Given the description of an element on the screen output the (x, y) to click on. 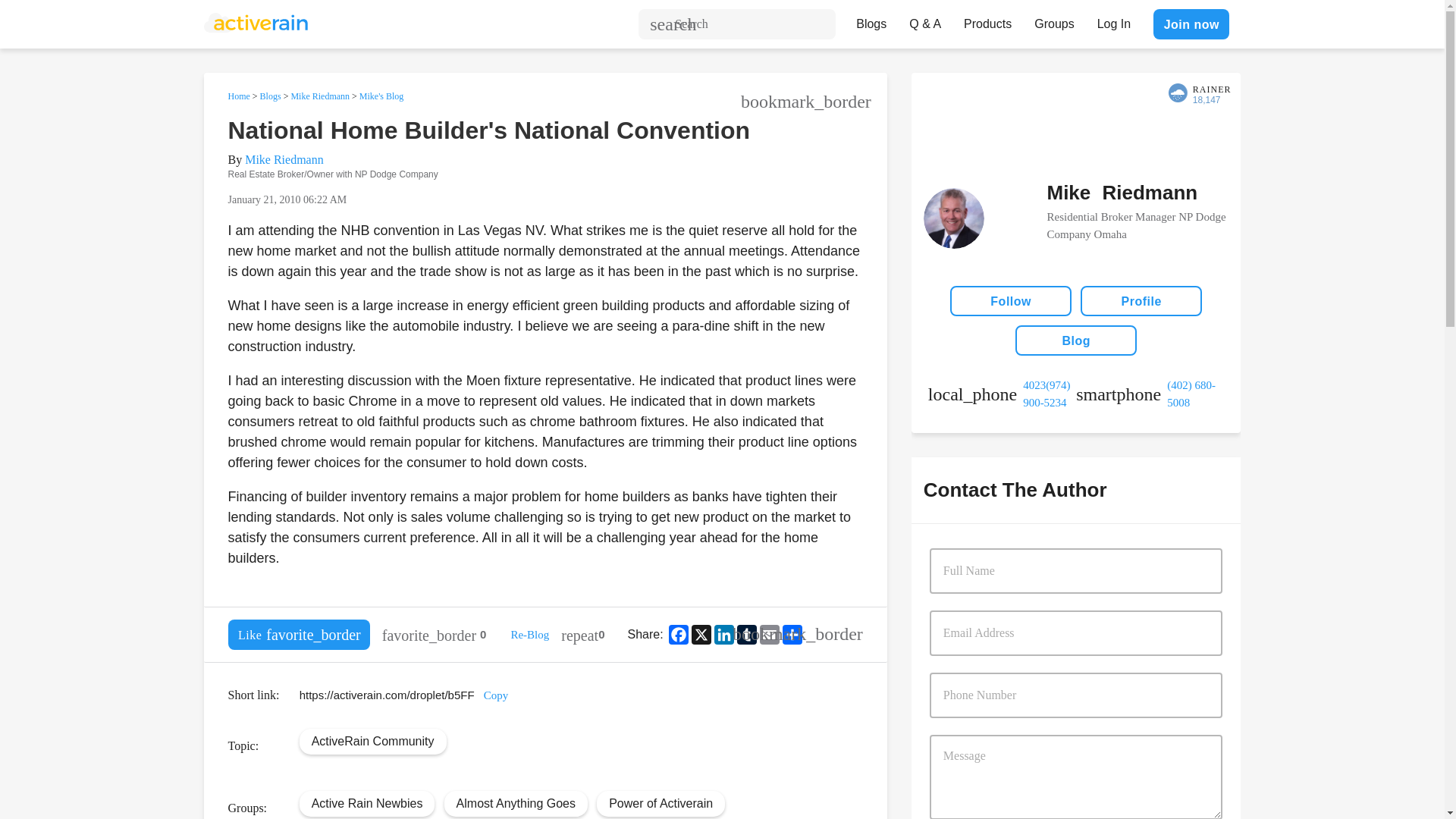
Mike Riedmann (319, 95)
work (1001, 393)
Blogs (870, 19)
Almost Anything Goes (516, 802)
Copy (495, 695)
Email (769, 634)
X (701, 634)
Facebook (678, 634)
Groups (1053, 19)
ActiveRain Community (372, 739)
cell (1149, 393)
repeat 0 (582, 634)
Home (237, 95)
Products (986, 19)
Re-Blog (529, 634)
